Given the description of an element on the screen output the (x, y) to click on. 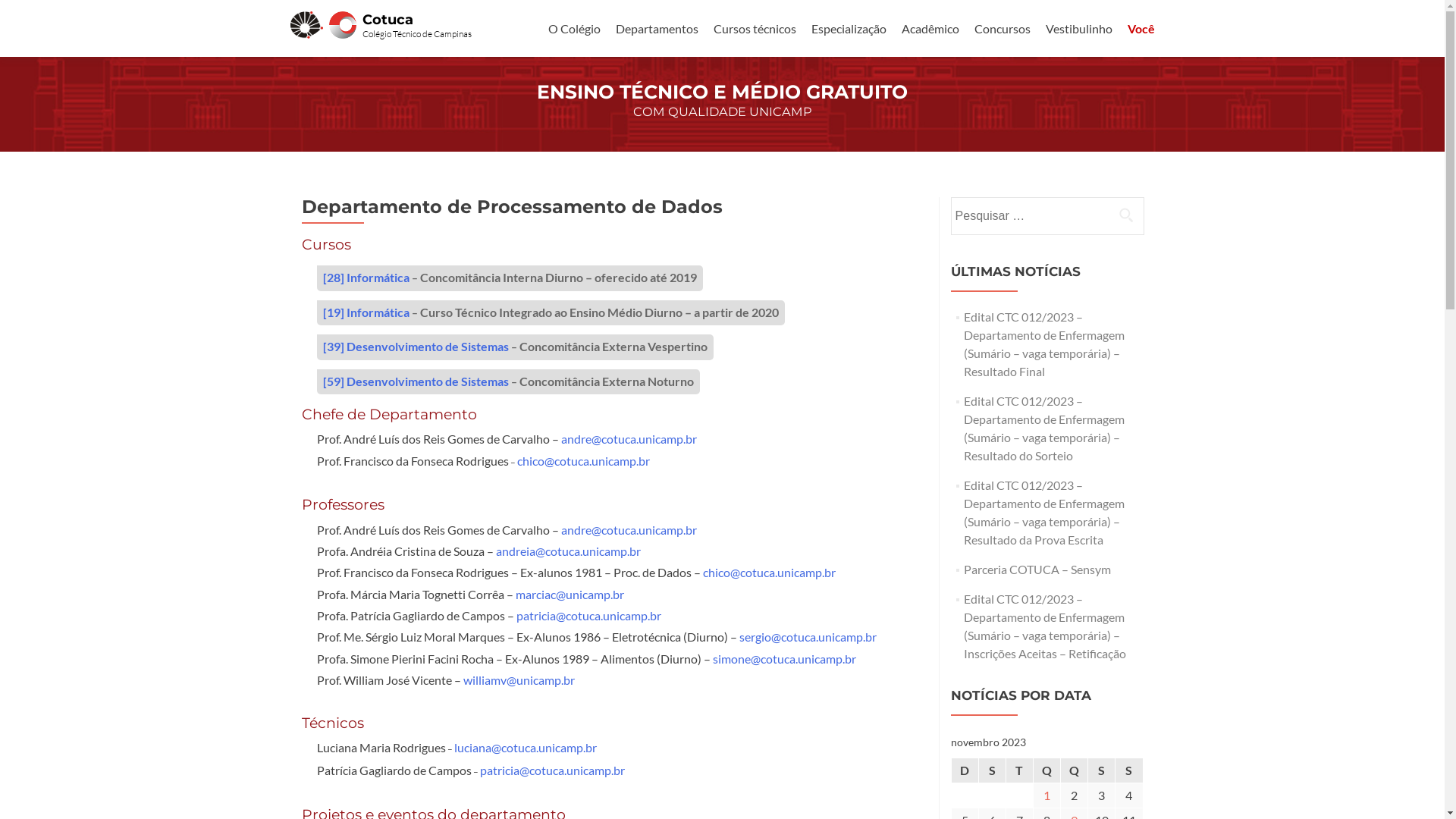
andreia@cotuca.unicamp.br Element type: text (567, 550)
[59] Desenvolvimento de Sistemas Element type: text (415, 380)
chico@cotuca.unicamp.br Element type: text (768, 571)
marciac@unicamp.br Element type: text (569, 593)
Pesquisar Element type: text (1125, 214)
[39] Desenvolvimento de Sistemas Element type: text (415, 345)
Departamentos Element type: text (656, 28)
Concursos Element type: text (1001, 28)
luciana@cotuca.unicamp.br Element type: text (524, 747)
1 Element type: text (1046, 795)
chico@cotuca.unicamp.br Element type: text (583, 460)
Vestibulinho Element type: text (1077, 28)
andre@cotuca.unicamp.br Element type: text (628, 438)
andre@cotuca.unicamp.br Element type: text (628, 529)
simone@cotuca.unicamp.br Element type: text (784, 658)
Cotuca Element type: hover (345, 22)
patricia@cotuca.unicamp.br Element type: text (551, 769)
sergio@cotuca.unicamp.br Element type: text (806, 636)
williamv@unicamp.br Element type: text (518, 679)
Cotuca Element type: text (387, 19)
patricia@cotuca.unicamp.br Element type: text (587, 615)
